Given the description of an element on the screen output the (x, y) to click on. 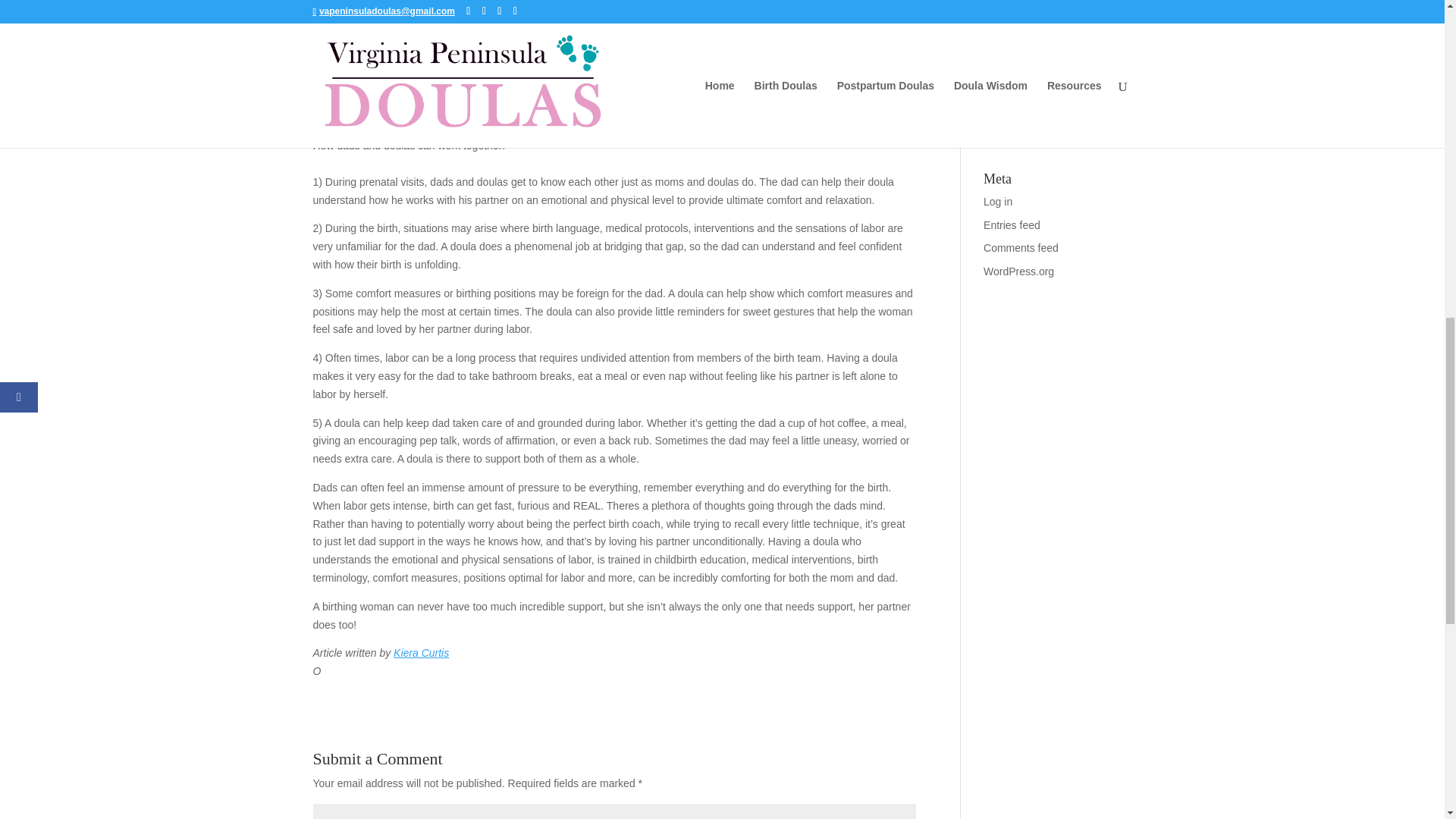
Kiera Curtis (420, 653)
